Given the description of an element on the screen output the (x, y) to click on. 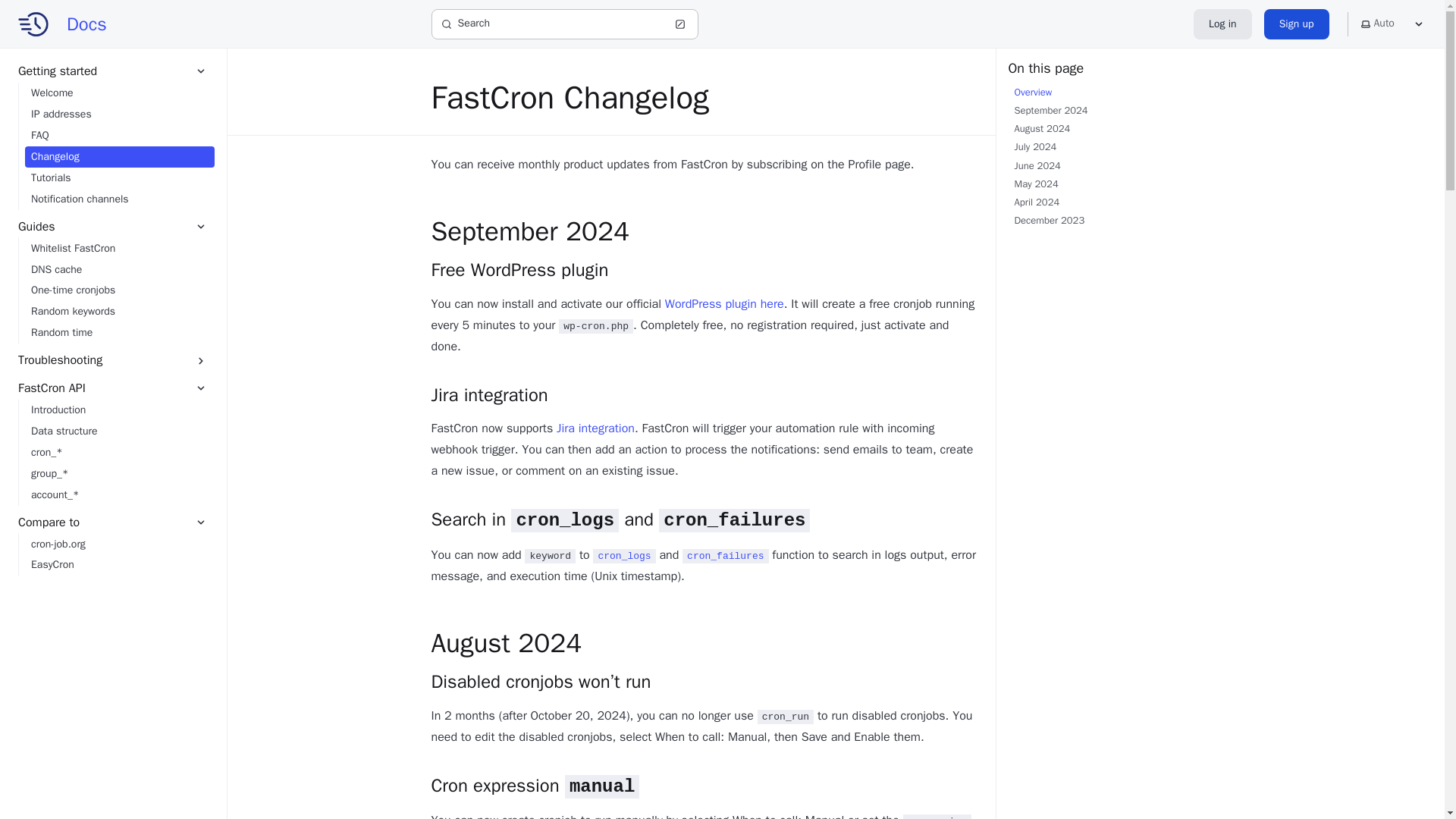
Data structure (119, 431)
Random time (119, 332)
IP addresses (119, 114)
Whitelist FastCron (119, 247)
Sign up (1296, 24)
DNS cache (119, 269)
Tutorials (119, 178)
Docs (61, 23)
Skip to content (48, 19)
Changelog (119, 156)
